Given the description of an element on the screen output the (x, y) to click on. 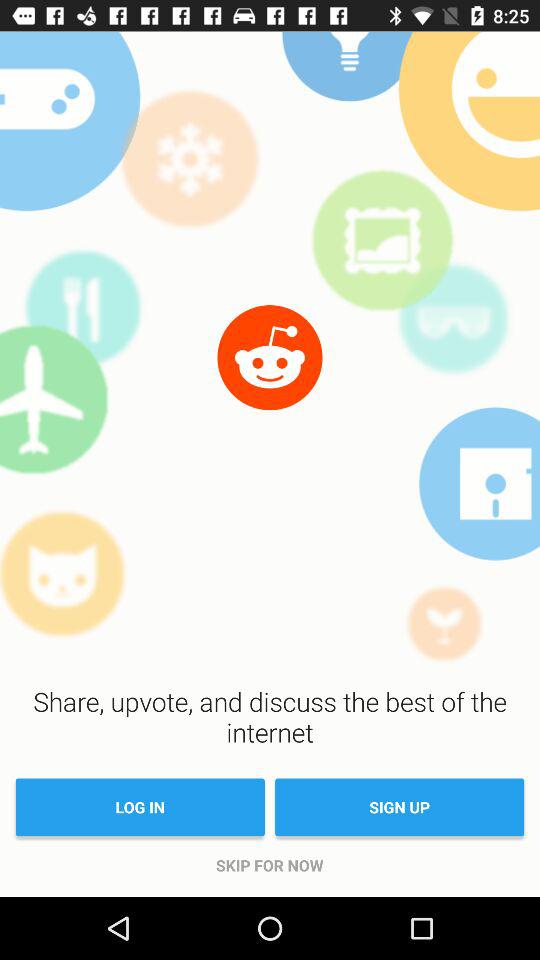
launch sign up item (399, 807)
